Given the description of an element on the screen output the (x, y) to click on. 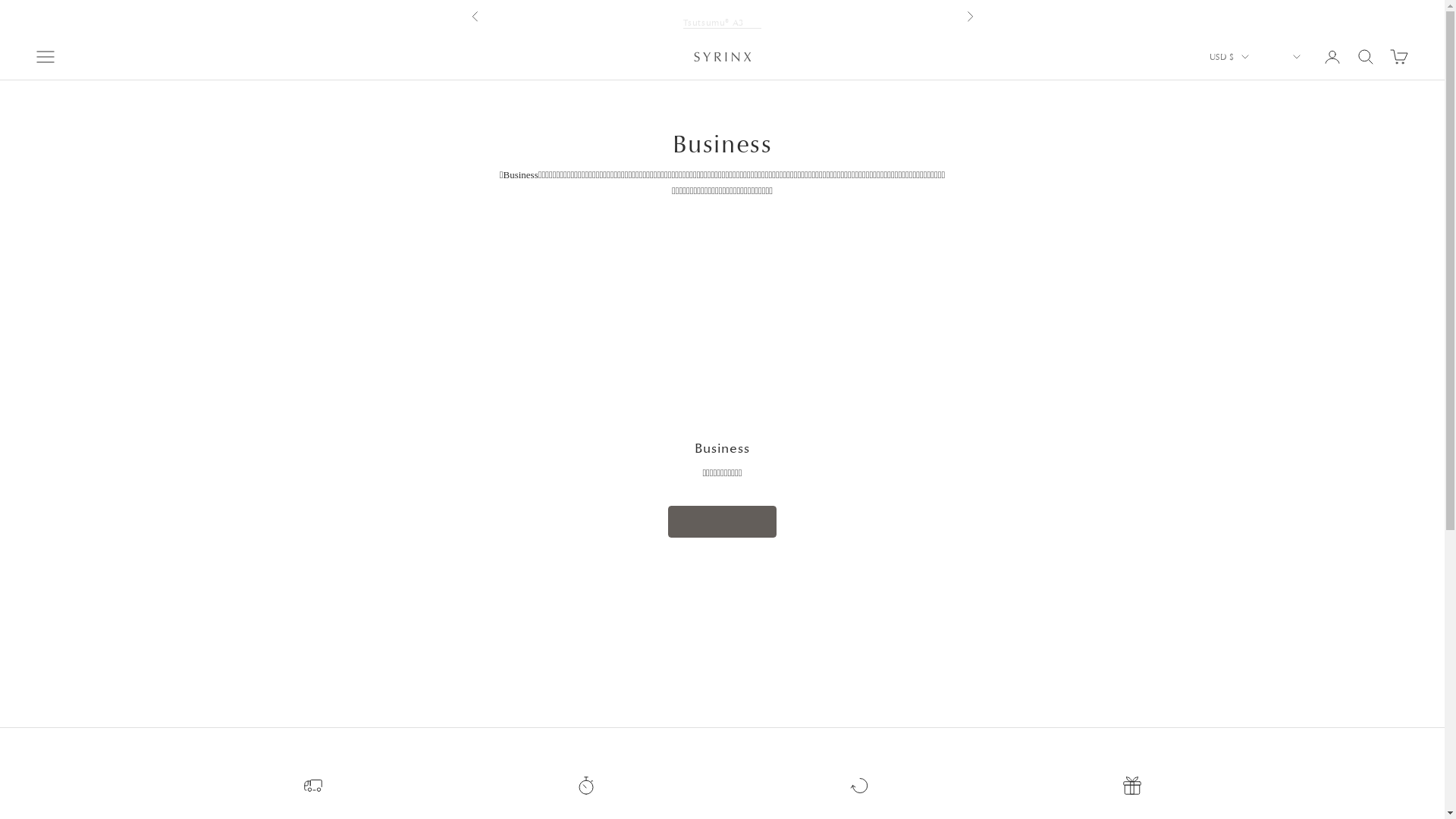
Syrinx Element type: text (721, 56)
USD $ Element type: text (1229, 56)
